Given the description of an element on the screen output the (x, y) to click on. 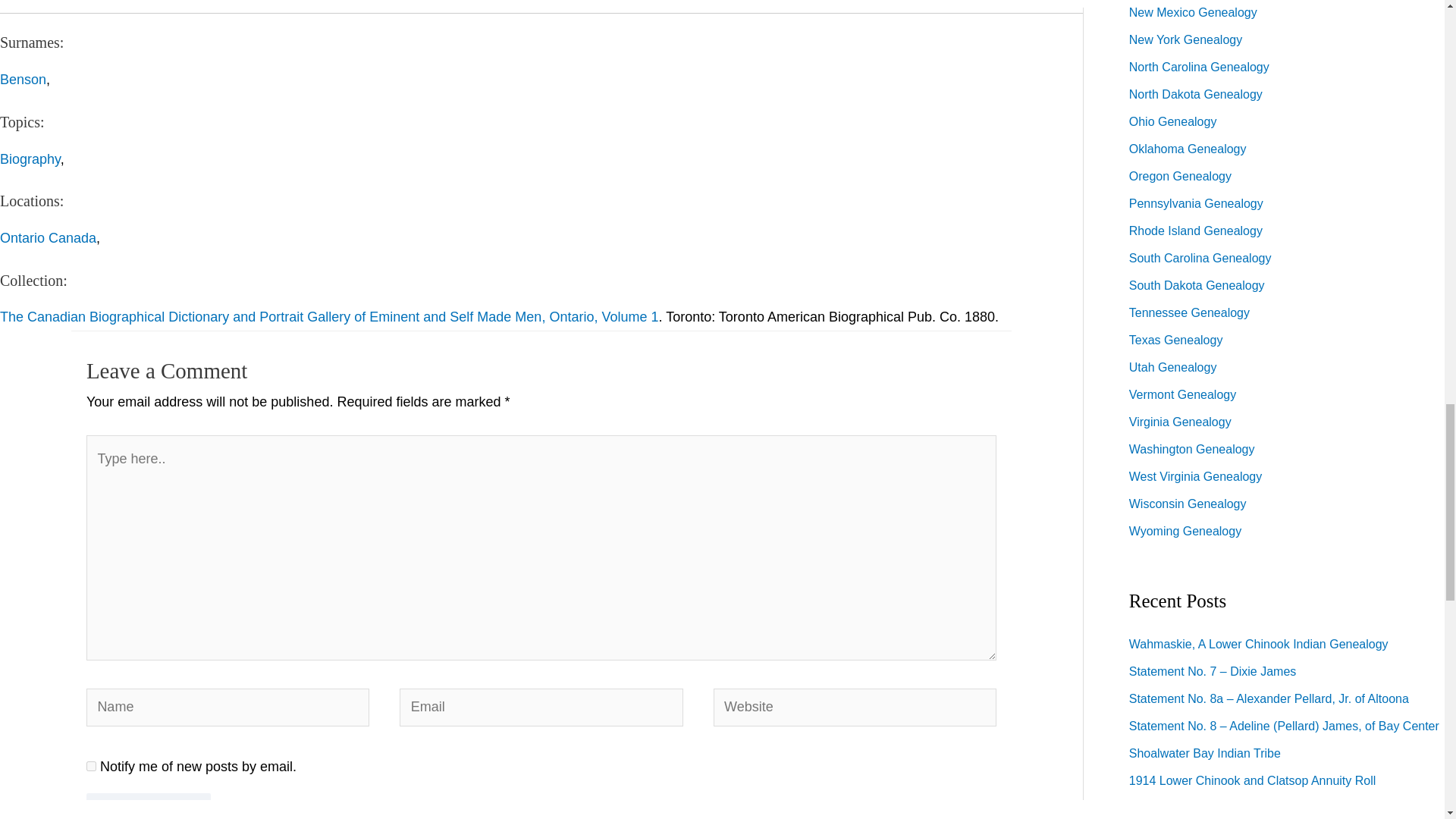
Ontario Canada (48, 237)
Benson (23, 79)
Biography (30, 159)
subscribe (90, 766)
